Given the description of an element on the screen output the (x, y) to click on. 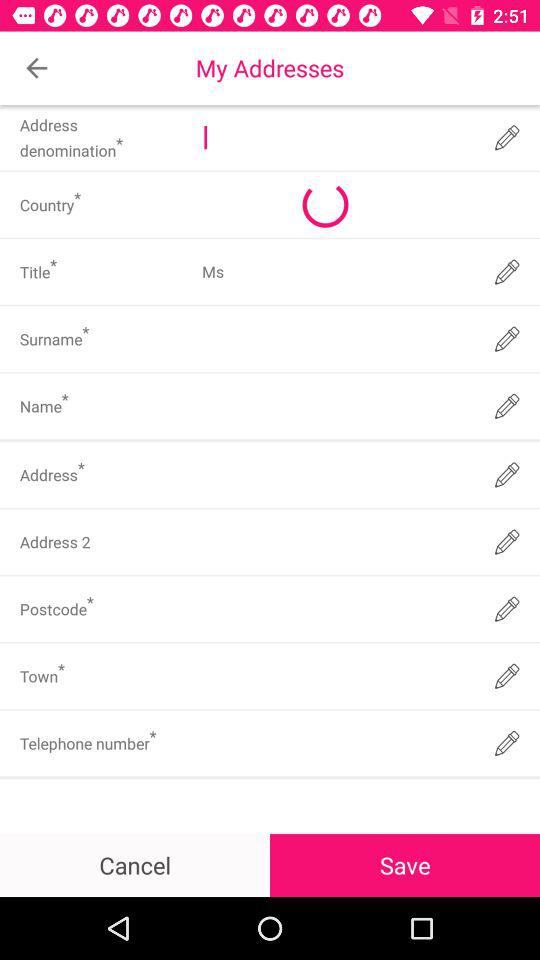
input information (335, 743)
